Given the description of an element on the screen output the (x, y) to click on. 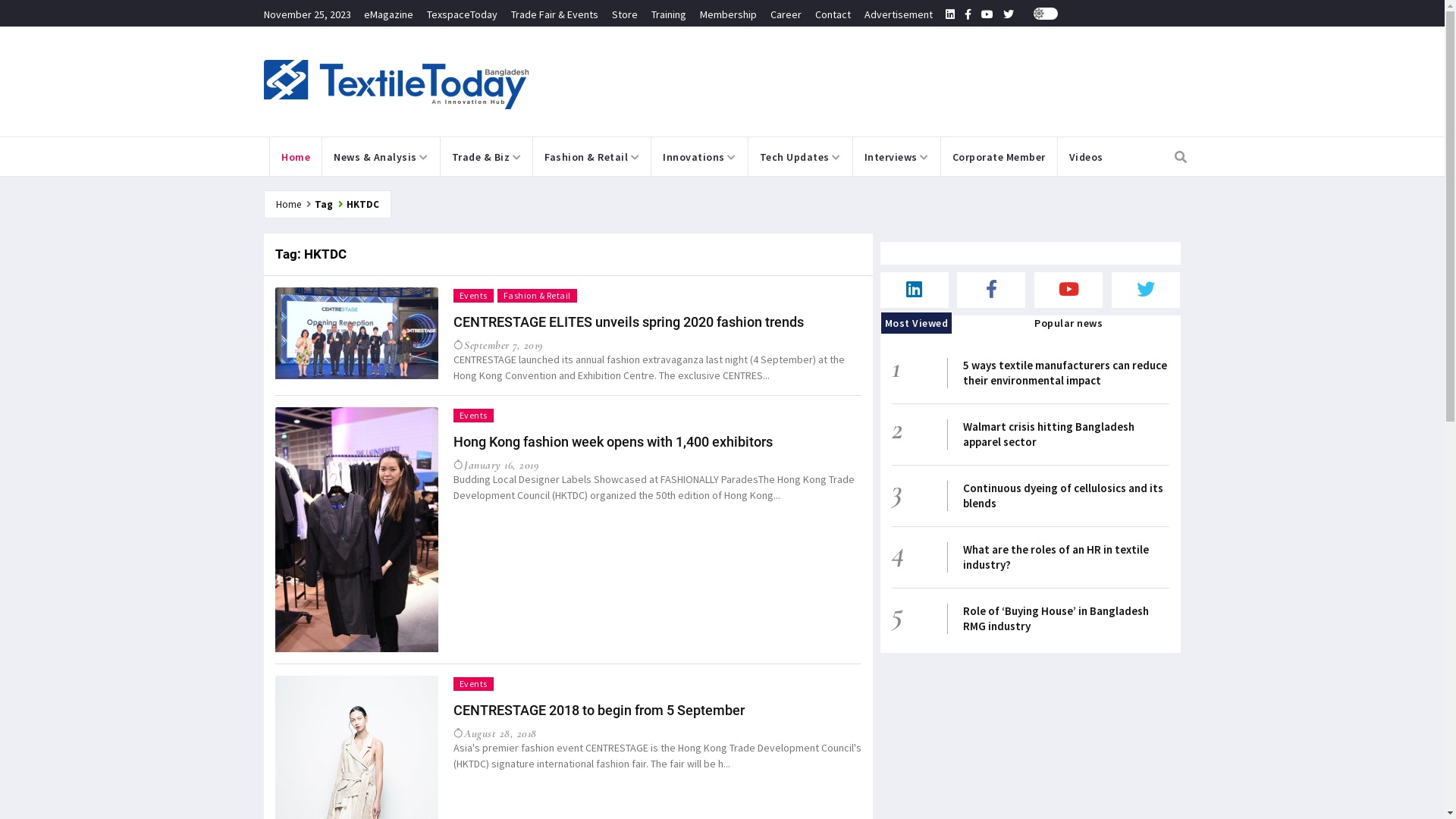
News & Analysis Element type: text (380, 155)
CENTRESTAGE 2018 to begin from 5 September Element type: text (598, 710)
Innovations Element type: text (699, 155)
Home Element type: text (288, 203)
Advertisement Element type: text (898, 14)
Most Viewed Element type: text (916, 322)
Hong Kong fashion week opens with 1,400 exhibitors Element type: text (612, 441)
Training Element type: text (667, 14)
Tech Updates Element type: text (799, 155)
Career Element type: text (785, 14)
CENTRESTAGE ELITES unveils spring 2020 fashion trends Element type: text (628, 321)
Trade Fair & Events Element type: text (554, 14)
Home Element type: text (295, 155)
Fashion & Retail Element type: text (591, 155)
Popular news Element type: text (1068, 322)
Membership Element type: text (727, 14)
Events Element type: text (473, 683)
eMagazine Element type: text (388, 14)
Store Element type: text (624, 14)
Events Element type: text (473, 295)
Continuous dyeing of cellulosics and its blends Element type: text (1063, 495)
Trade & Biz Element type: text (485, 155)
Walmart crisis hitting Bangladesh apparel sector Element type: text (1048, 433)
HKTDC Element type: text (361, 203)
Fashion & Retail Element type: text (537, 295)
What are the roles of an HR in textile industry? Element type: text (1055, 556)
Change mode Element type: hover (1044, 13)
Events Element type: text (473, 415)
Interviews Element type: text (895, 155)
Videos Element type: text (1085, 155)
Contact Element type: text (832, 14)
Corporate Member Element type: text (998, 155)
Tag Element type: text (322, 203)
TexspaceToday Element type: text (461, 14)
